Given the description of an element on the screen output the (x, y) to click on. 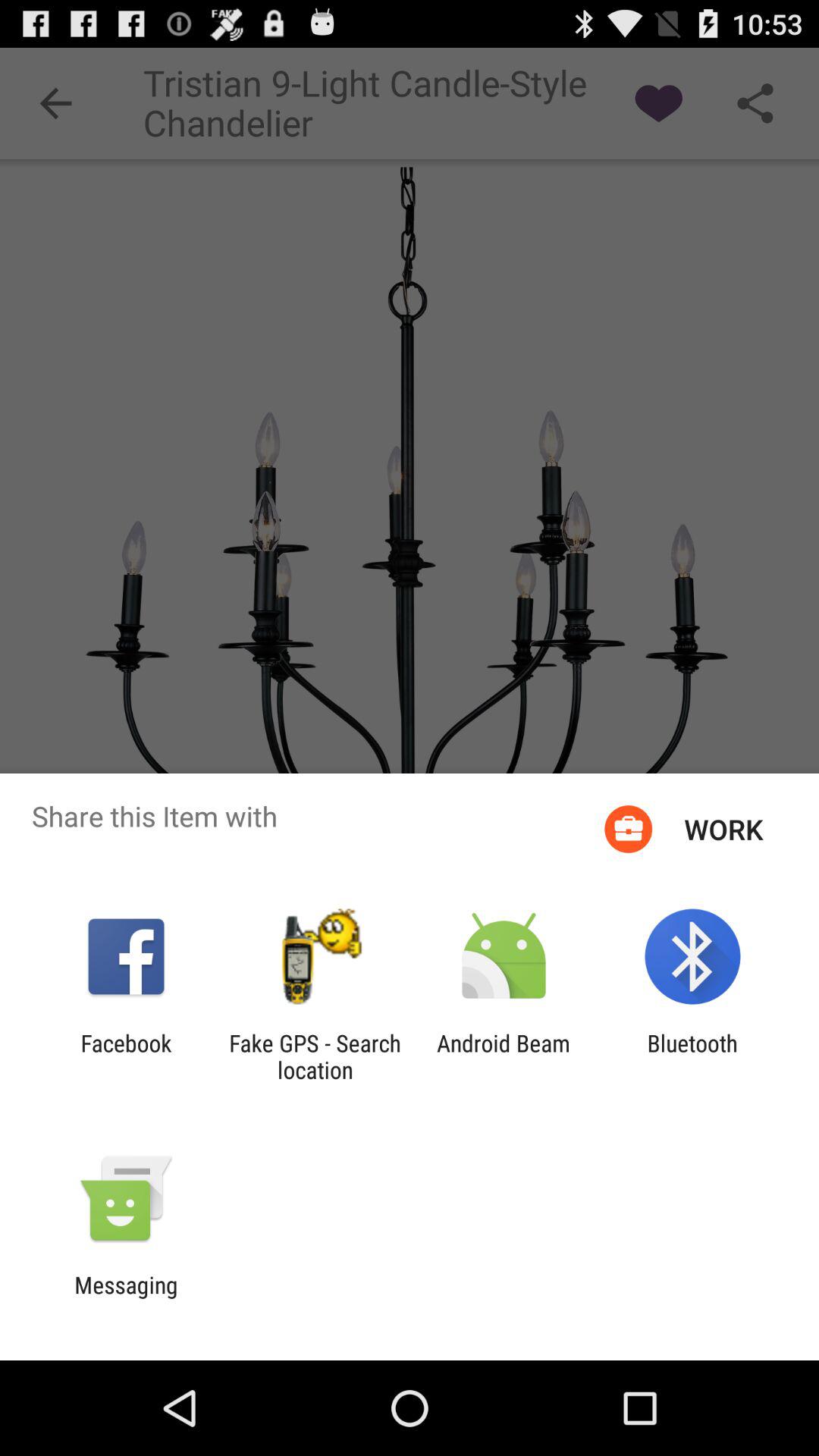
select bluetooth at the bottom right corner (692, 1056)
